Given the description of an element on the screen output the (x, y) to click on. 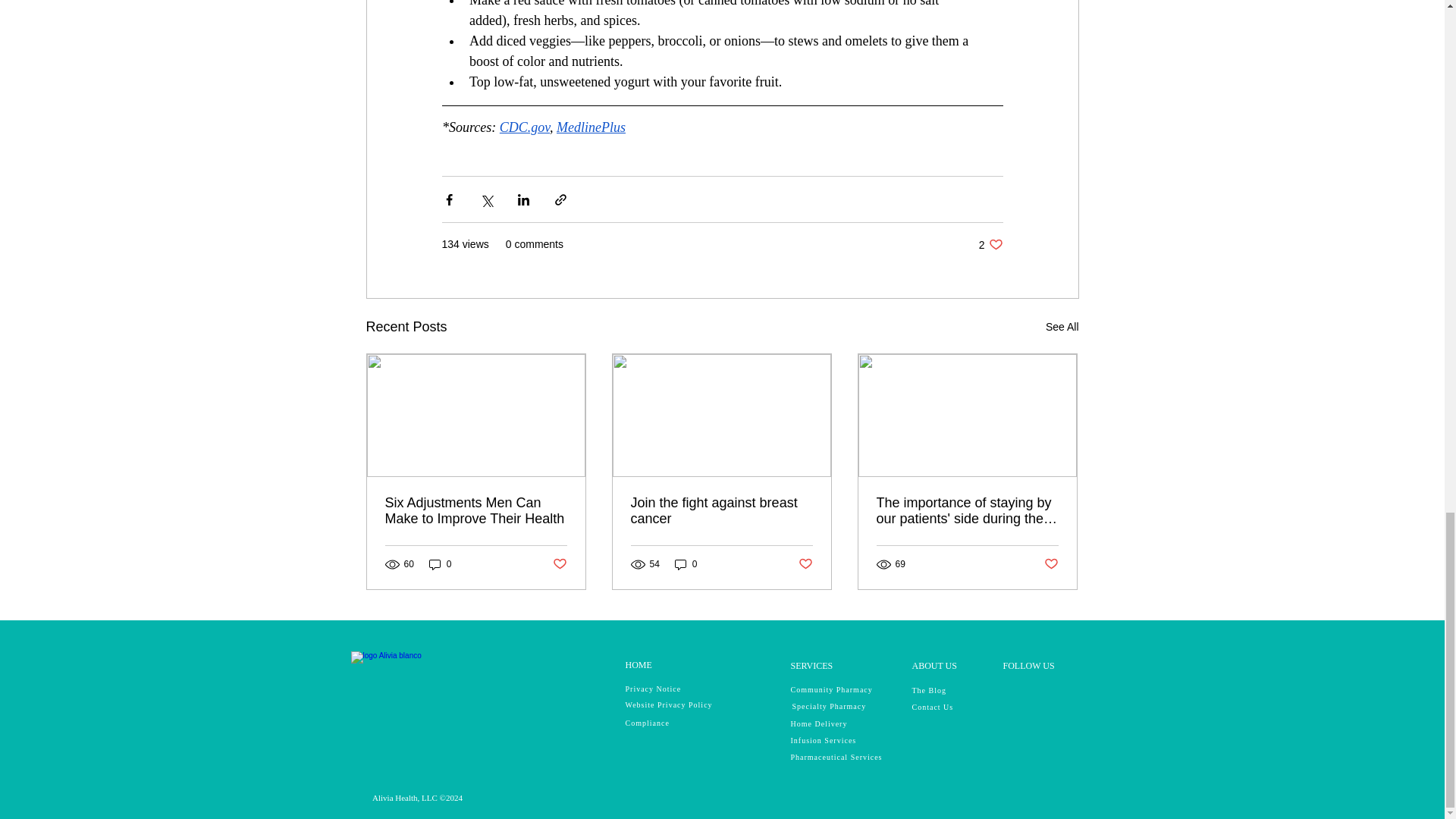
Six Adjustments Men Can Make to Improve Their Health (476, 511)
Post not marked as liked (558, 564)
CDC.gov (990, 244)
0 (523, 127)
See All (440, 564)
MedlinePlus (1061, 327)
